Given the description of an element on the screen output the (x, y) to click on. 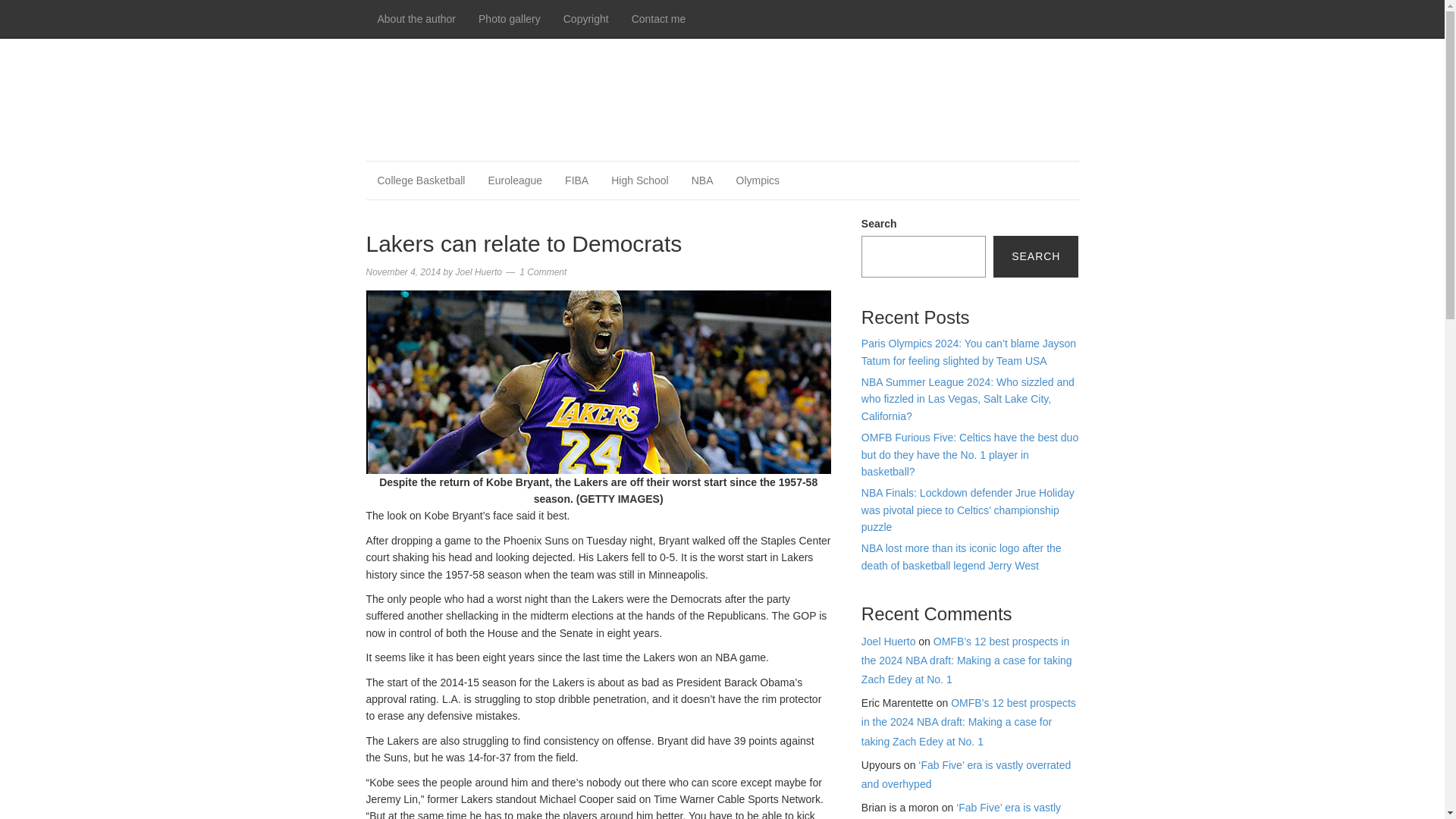
Photo gallery (509, 18)
NBA (702, 180)
Tuesday, November 4, 2014, 10:57 pm (403, 271)
Joel Huerto (888, 641)
FIBA (576, 180)
About the author (416, 18)
College Basketball (420, 180)
Photo gallery (509, 18)
Contact me (658, 18)
